Given the description of an element on the screen output the (x, y) to click on. 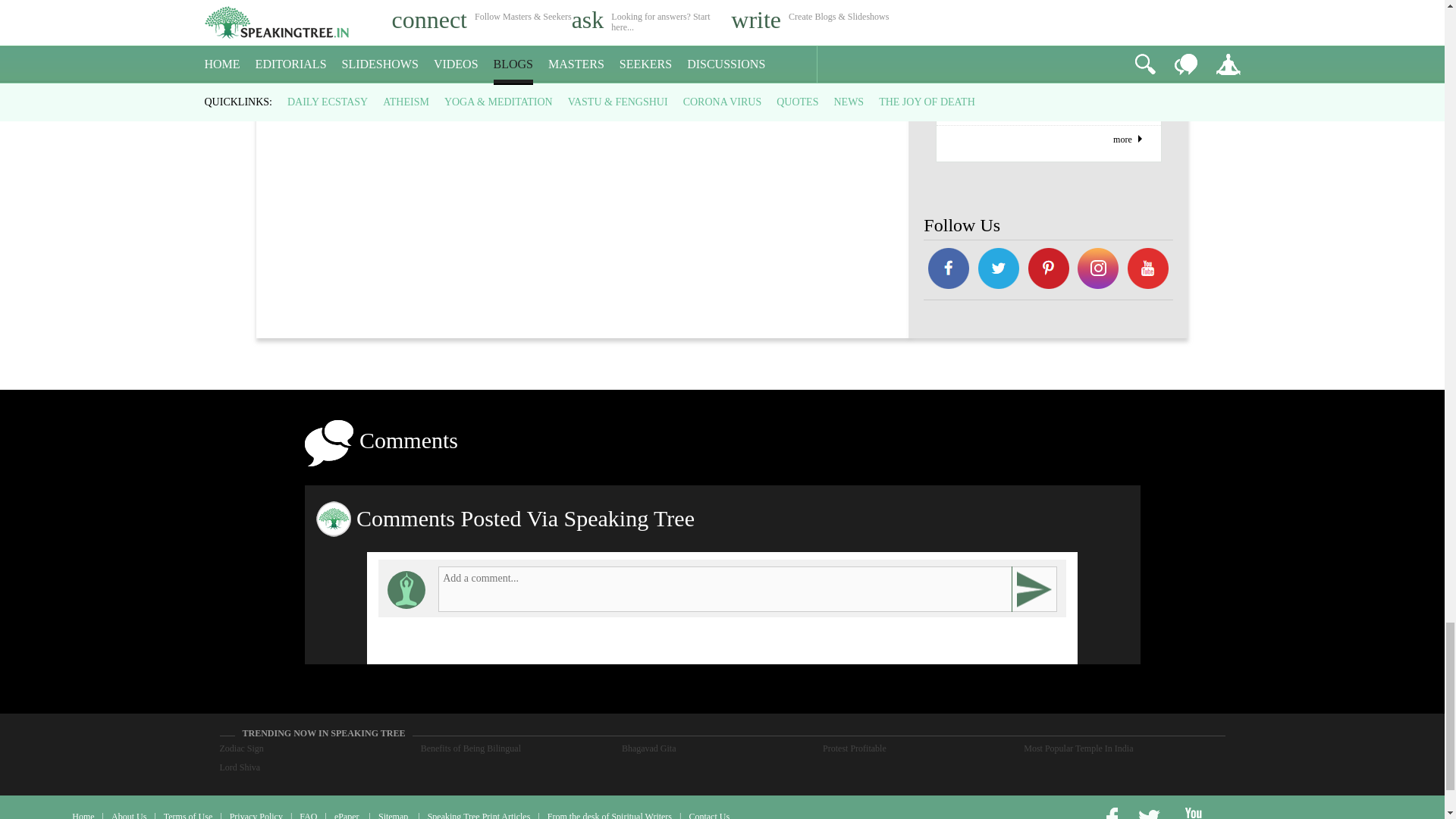
Speaking Tree FaceBook (1147, 270)
Speaking Tree FaceBook (1099, 270)
Speaking Tree FaceBook (1048, 270)
Speaking Tree FaceBook (998, 270)
Speaking Tree FaceBook (948, 270)
